Given the description of an element on the screen output the (x, y) to click on. 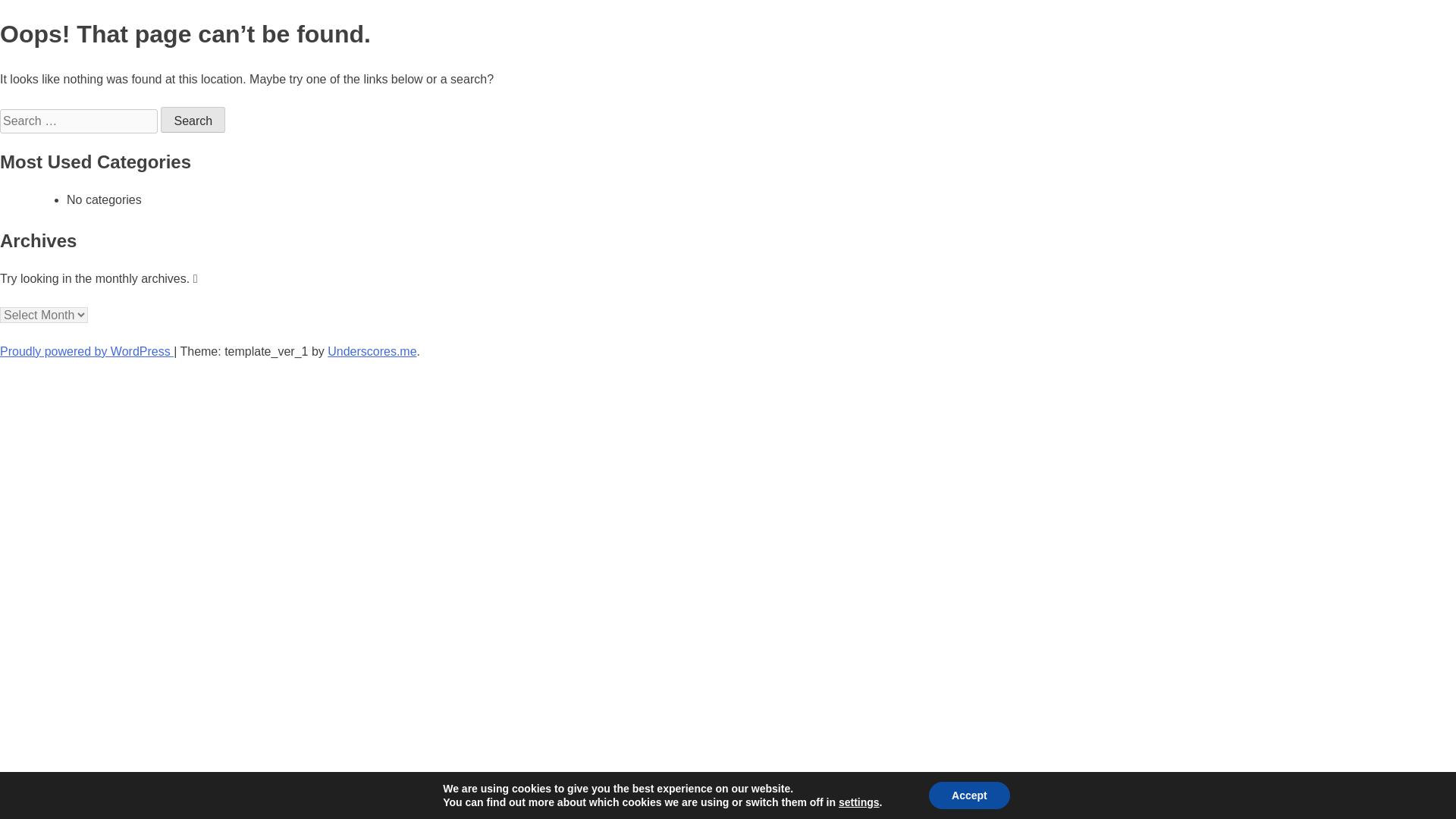
Search (192, 119)
Search (192, 119)
Search (192, 119)
